Given the description of an element on the screen output the (x, y) to click on. 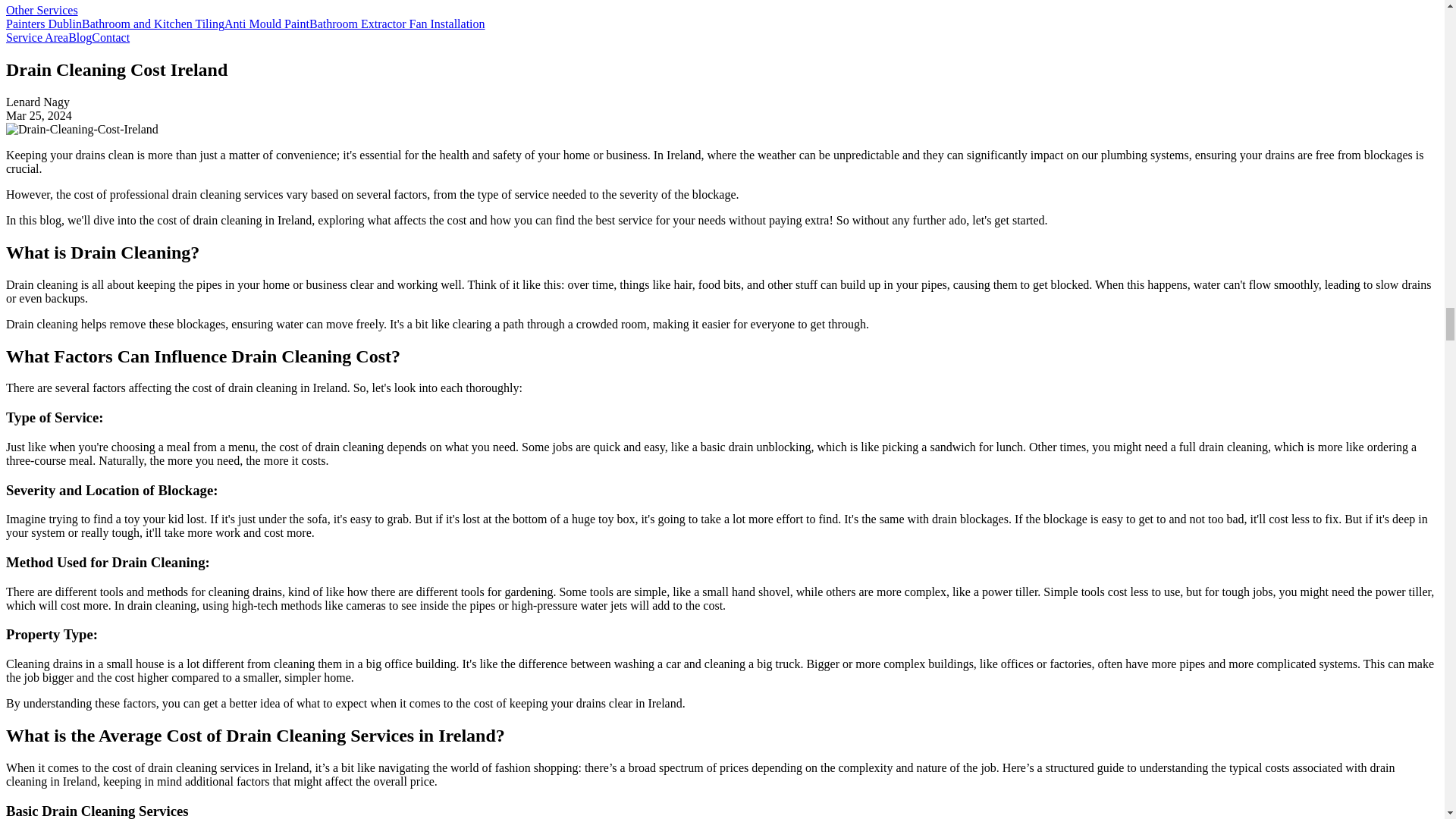
Bathroom and Kitchen Tiling (152, 23)
Anti Mould Paint (266, 23)
Service Area (36, 37)
Other Services (41, 10)
Painters Dublin (43, 23)
Bathroom Extractor Fan Installation (396, 23)
Blog (79, 37)
Contact (110, 37)
